Given the description of an element on the screen output the (x, y) to click on. 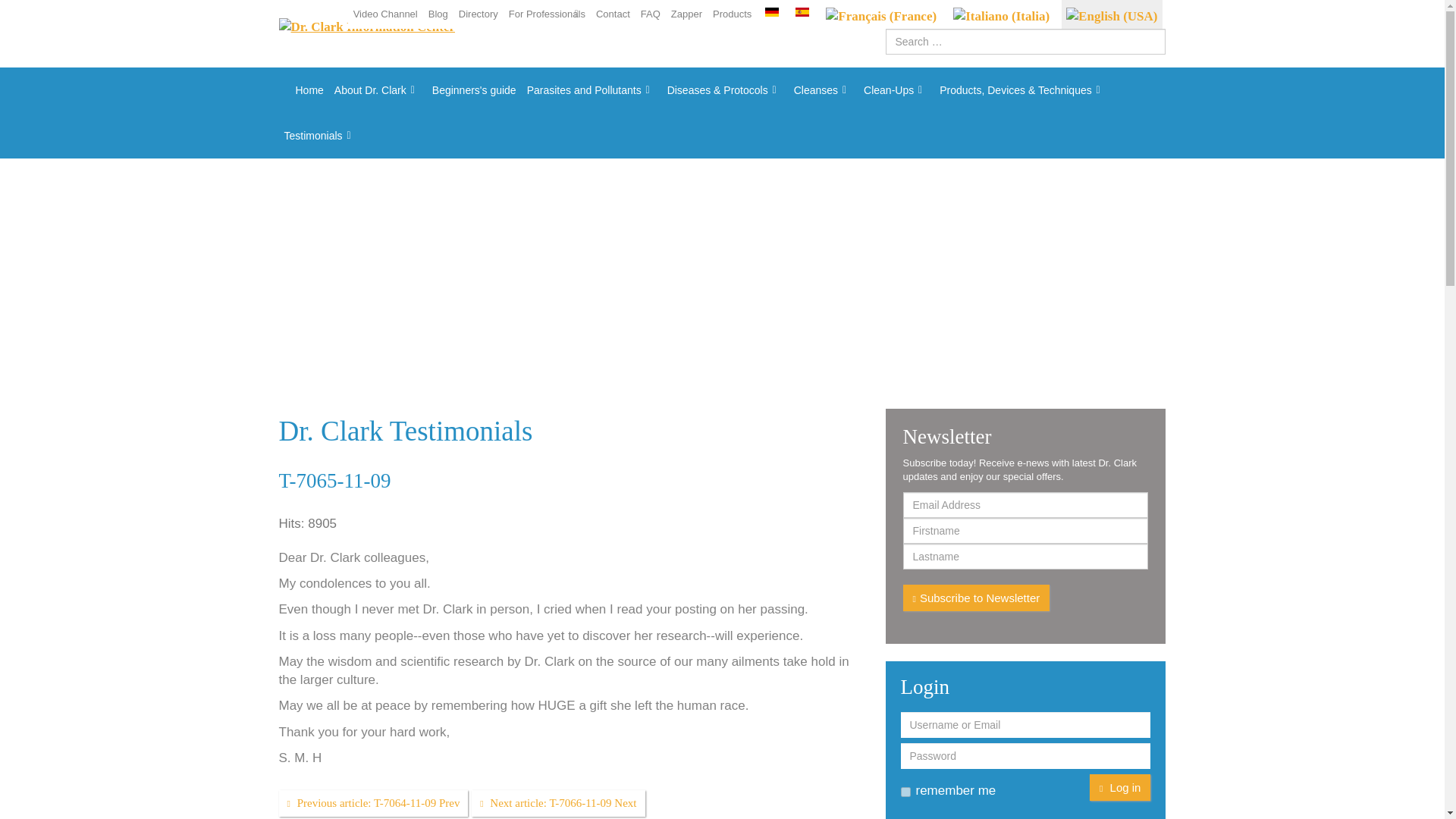
Contact (612, 14)
Zapper (686, 14)
Beginners's guide (473, 90)
Home (304, 90)
Directory (477, 14)
FAQ (649, 14)
Parasites and Pollutants (591, 90)
yes (906, 791)
About Dr. Clark (377, 90)
Blog (437, 14)
For Professionals (547, 14)
Video Channel (385, 14)
Products (732, 14)
